Given the description of an element on the screen output the (x, y) to click on. 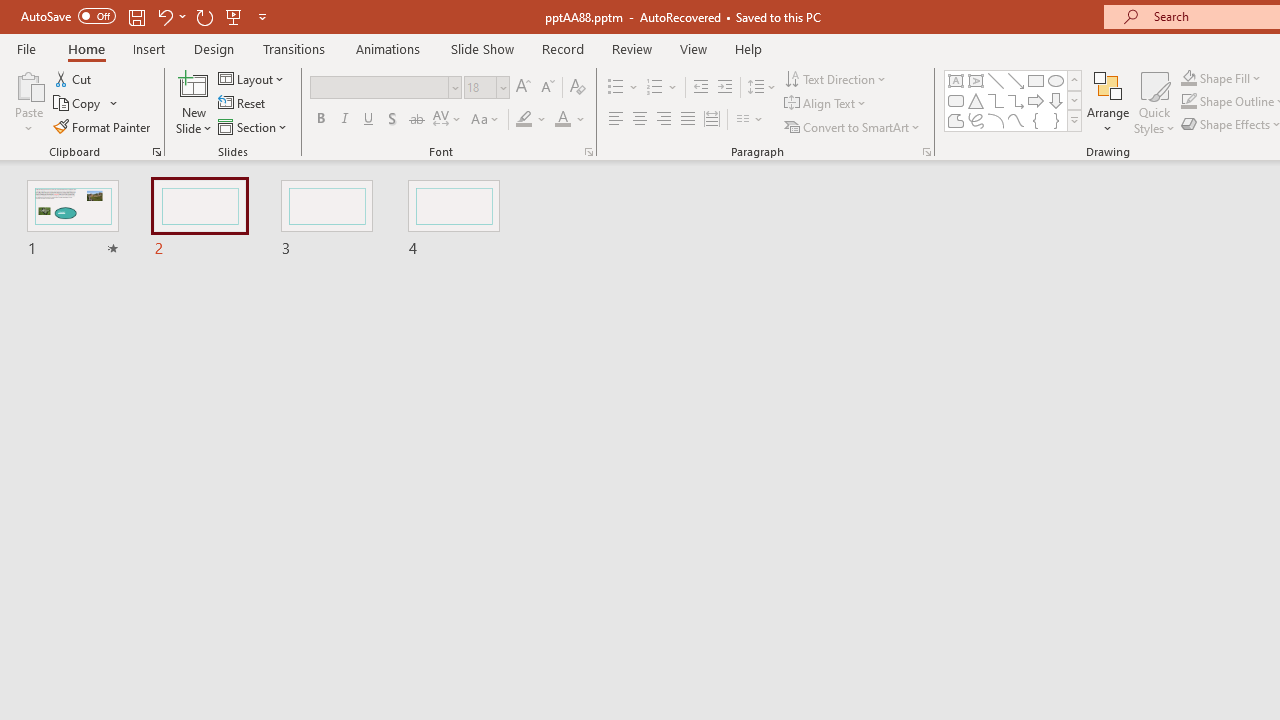
Rectangle: Rounded Corners (955, 100)
Justify (687, 119)
Right Brace (1055, 120)
Layout (252, 78)
Section (254, 126)
Text Highlight Color Yellow (524, 119)
Character Spacing (447, 119)
